Given the description of an element on the screen output the (x, y) to click on. 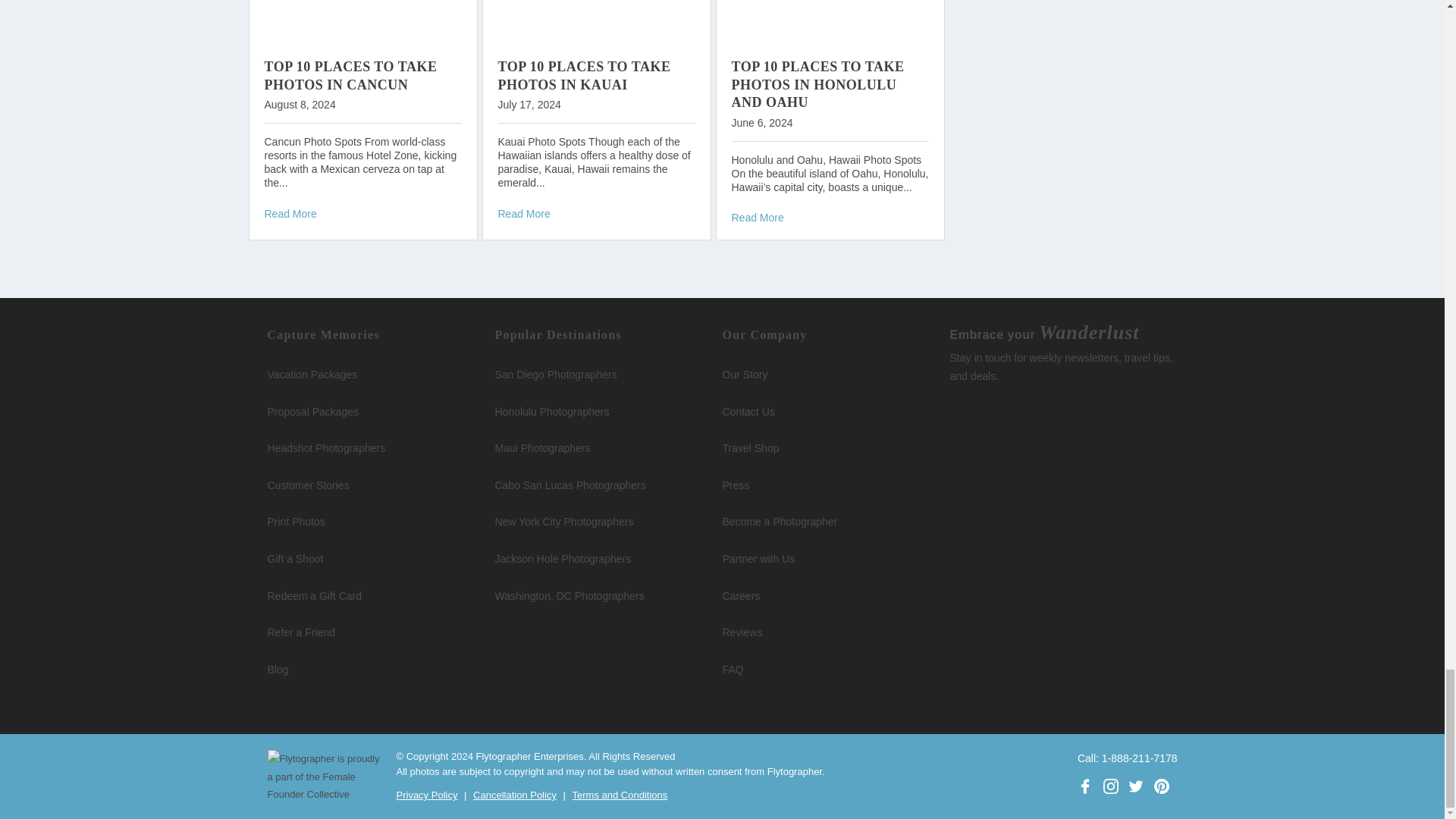
Call Flytographer Headquarters (1127, 758)
Find us on Pinterest (1161, 785)
Follow us on Twitter (1135, 785)
Follow us on Instagram (1110, 785)
Find us on Facebook (1085, 785)
